Given the description of an element on the screen output the (x, y) to click on. 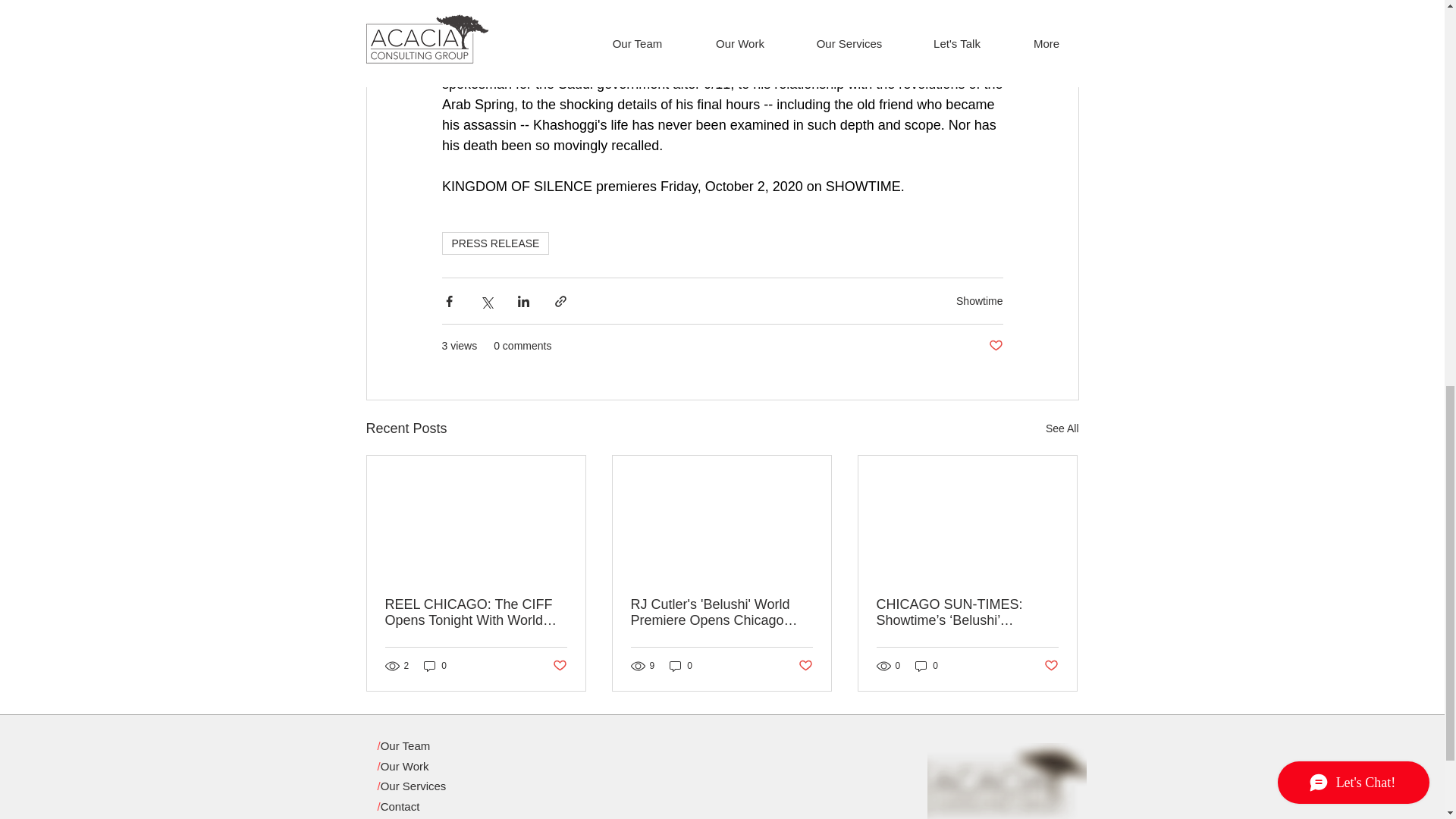
Post not marked as liked (804, 666)
Post not marked as liked (1050, 666)
PRESS RELEASE (494, 242)
Post not marked as liked (558, 666)
Showtime (979, 300)
0 (681, 665)
See All (1061, 428)
Post not marked as liked (995, 345)
0 (926, 665)
0 (435, 665)
